Given the description of an element on the screen output the (x, y) to click on. 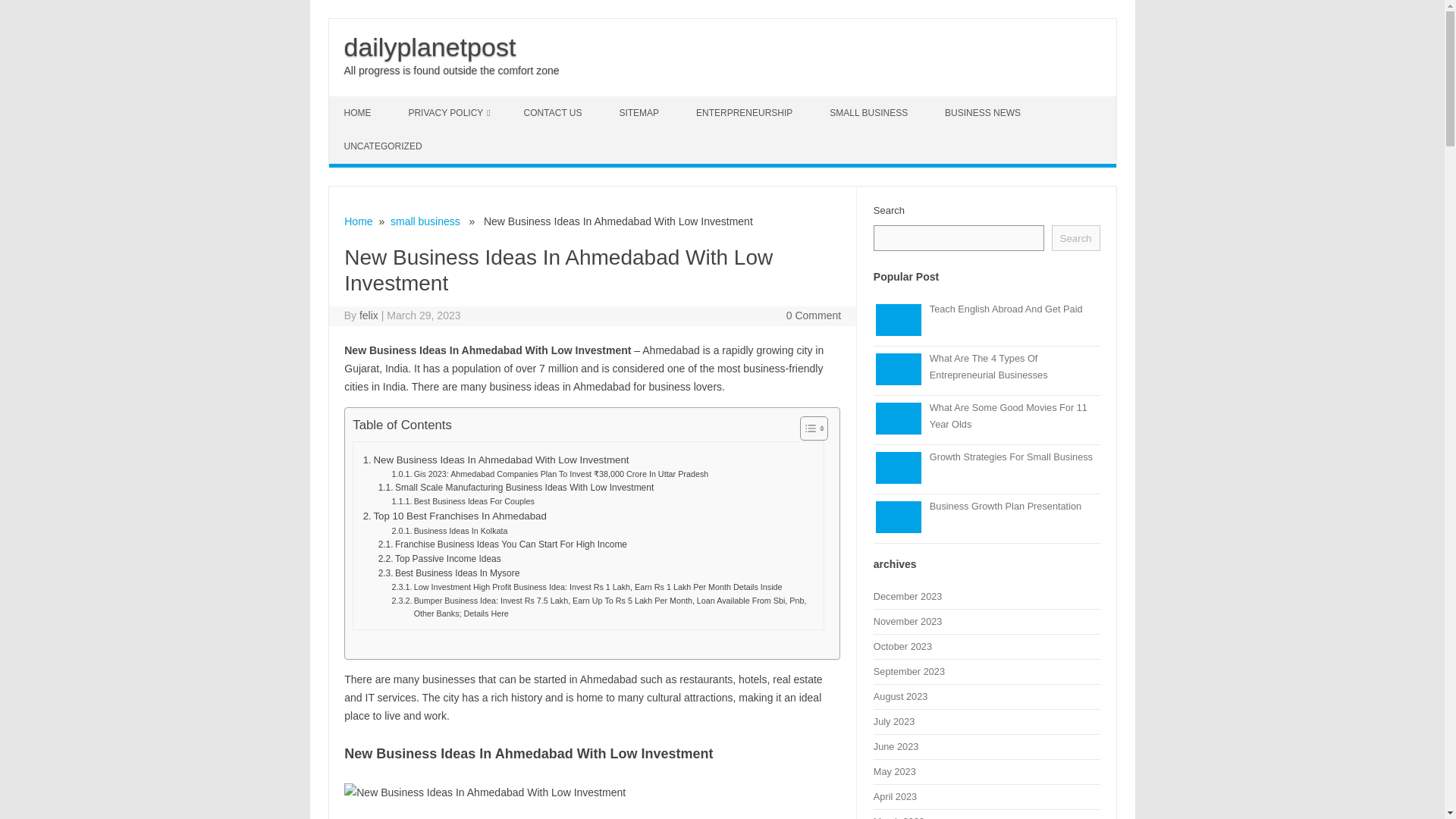
New Business Ideas In Ahmedabad With Low Investment (495, 459)
dailyplanetpost (429, 46)
Posts by felix (368, 315)
ENTERPRENEURSHIP (745, 112)
Top Passive Income Ideas (439, 559)
Business Ideas In Kolkata (449, 530)
UNCATEGORIZED (385, 145)
PRIVACY POLICY (449, 112)
New Business Ideas In Ahmedabad With Low Investment (495, 459)
felix (368, 315)
Skip to content (363, 101)
HOME (359, 112)
New Business Ideas In Ahmedabad With Low Investment (484, 791)
